Given the description of an element on the screen output the (x, y) to click on. 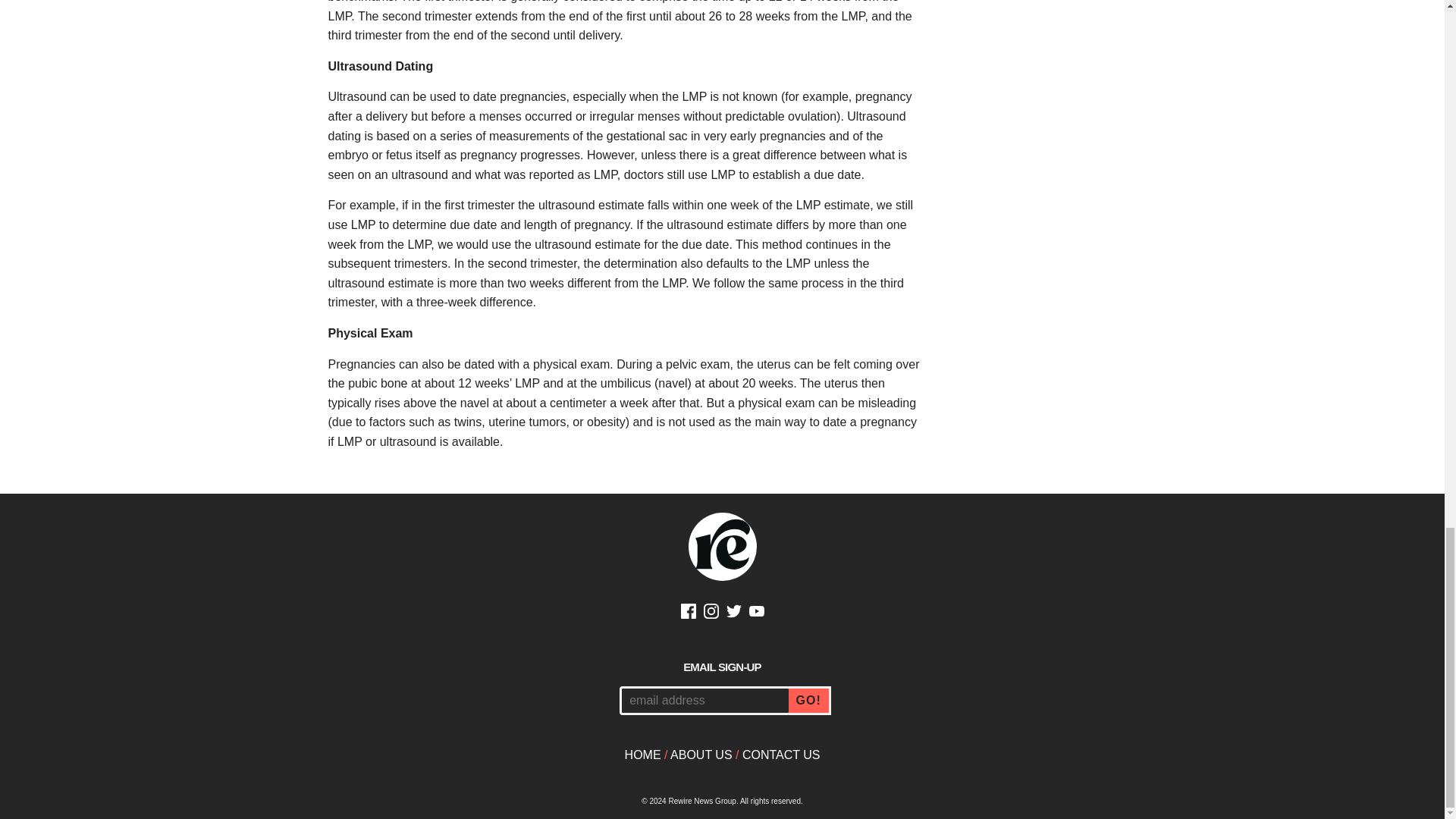
INSTAGRAM (711, 613)
YOUTUBE (756, 613)
CONTACT US (781, 754)
FACEBOOK (688, 613)
ABOUT US (700, 754)
HOME (642, 754)
GO! (810, 700)
TWITTER (733, 613)
GO! (810, 700)
